Given the description of an element on the screen output the (x, y) to click on. 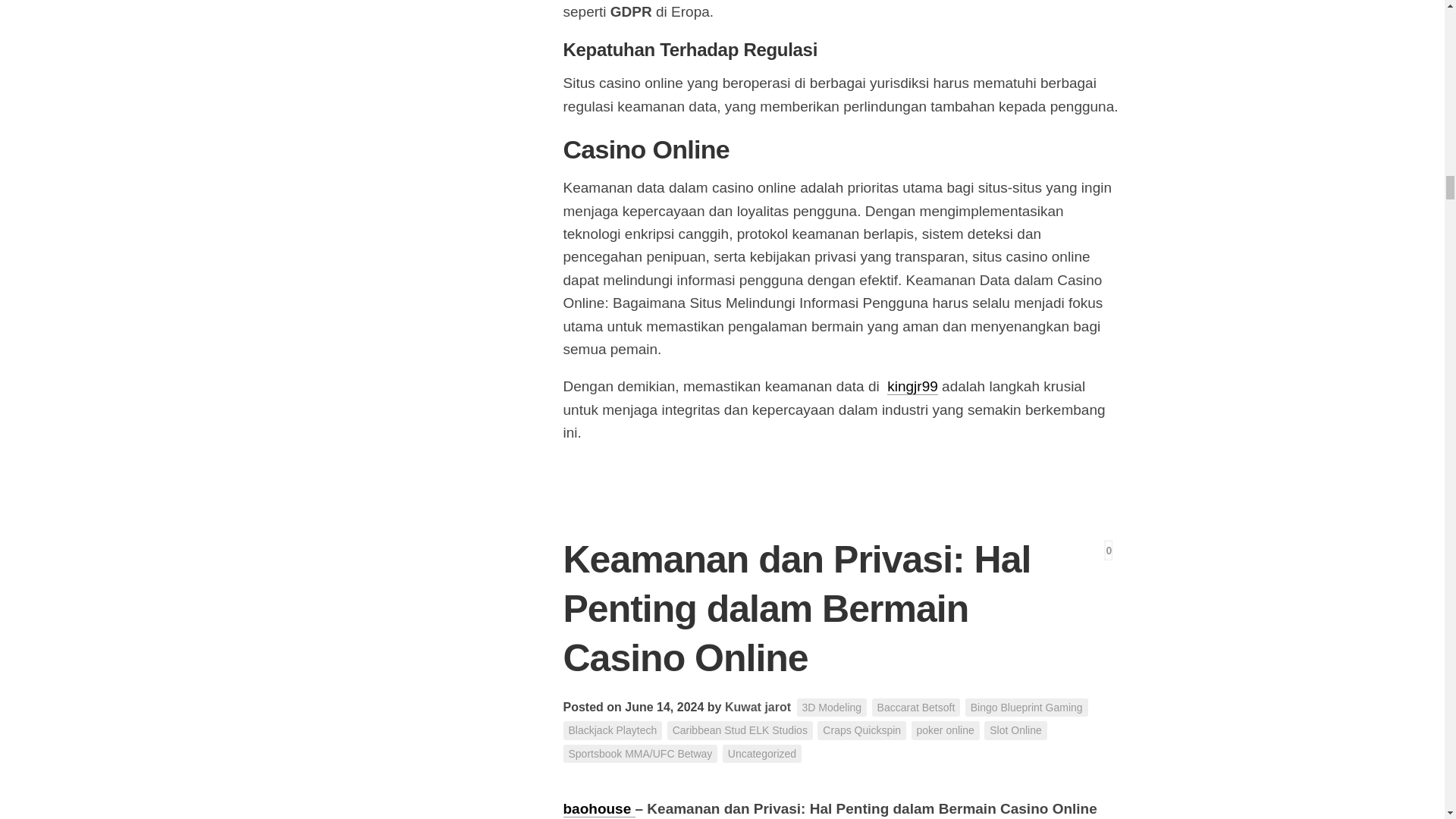
kingjr99 (911, 385)
3D Modeling (831, 707)
Kuwat jarot (757, 707)
Baccarat Betsoft (916, 707)
Bingo Blueprint Gaming (1026, 707)
Blackjack Playtech (612, 730)
Caribbean Stud ELK Studios (739, 730)
Posts by Kuwat jarot (757, 707)
